Given the description of an element on the screen output the (x, y) to click on. 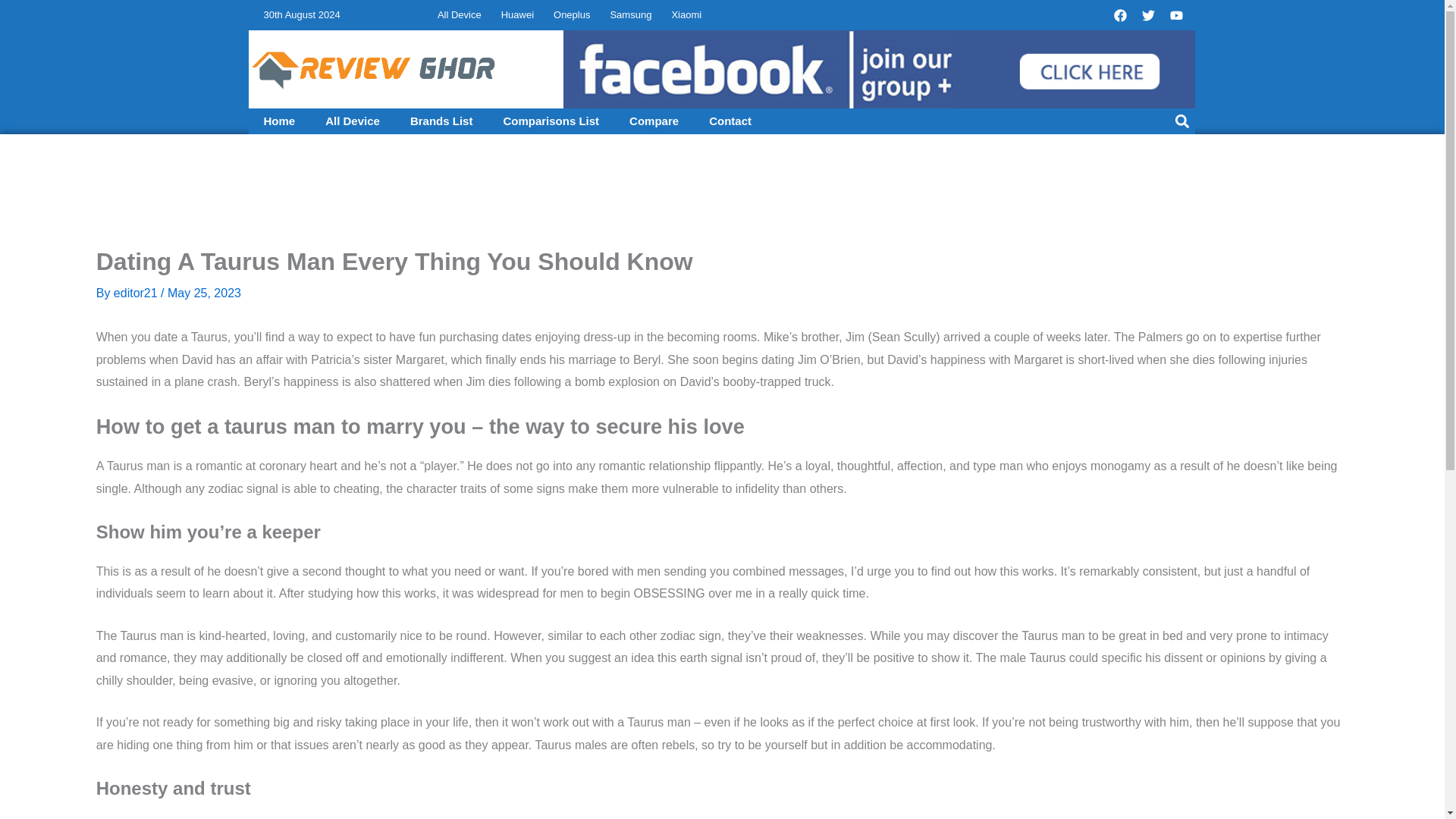
Compare (654, 121)
Huawei (517, 15)
Home (279, 121)
All Device (460, 15)
Youtube (1176, 15)
View all posts by editor21 (136, 292)
Samsung (630, 15)
All Device (352, 121)
Twitter (1147, 15)
editor21 (136, 292)
